Given the description of an element on the screen output the (x, y) to click on. 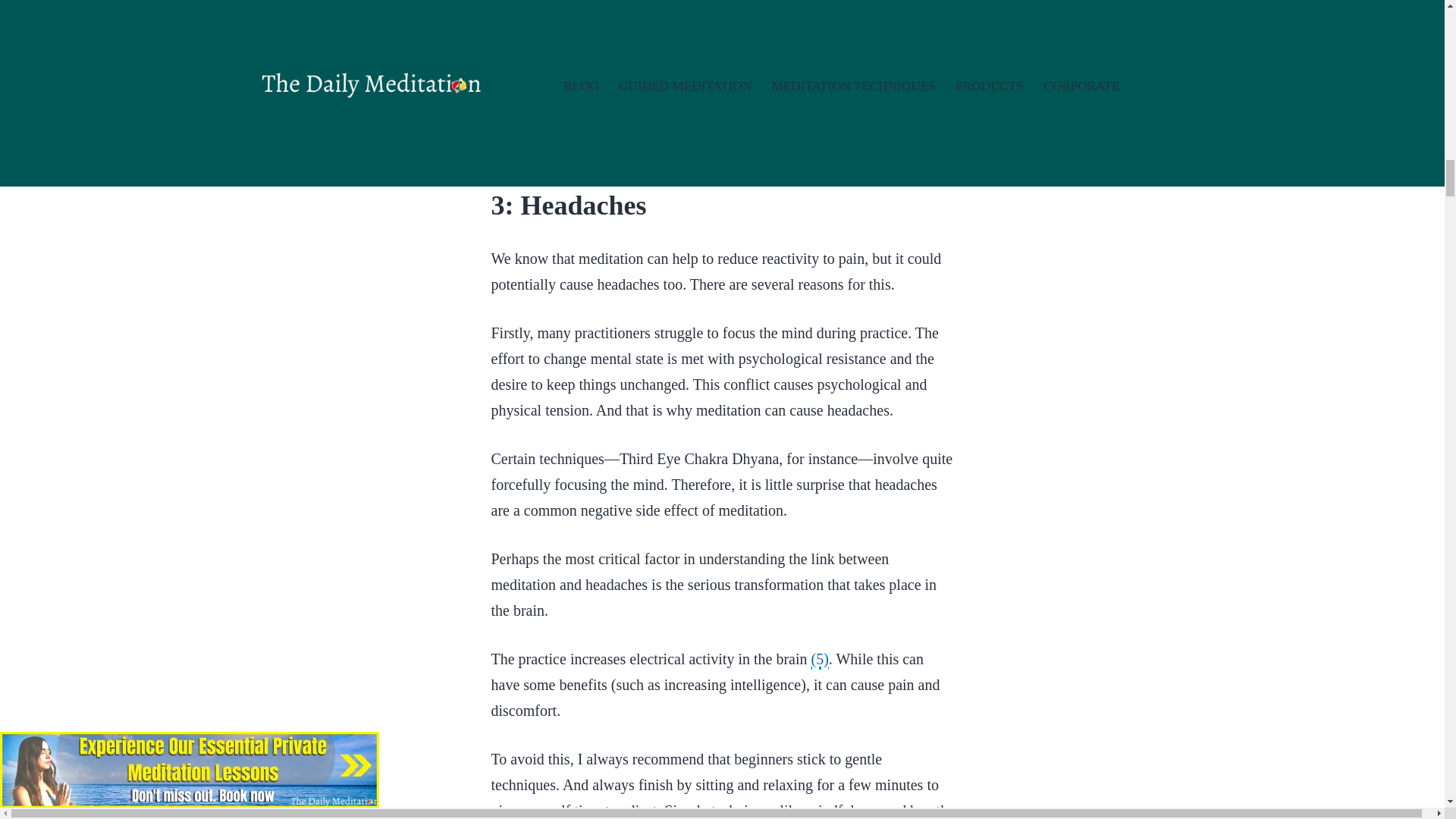
further research into this, (745, 88)
